Given the description of an element on the screen output the (x, y) to click on. 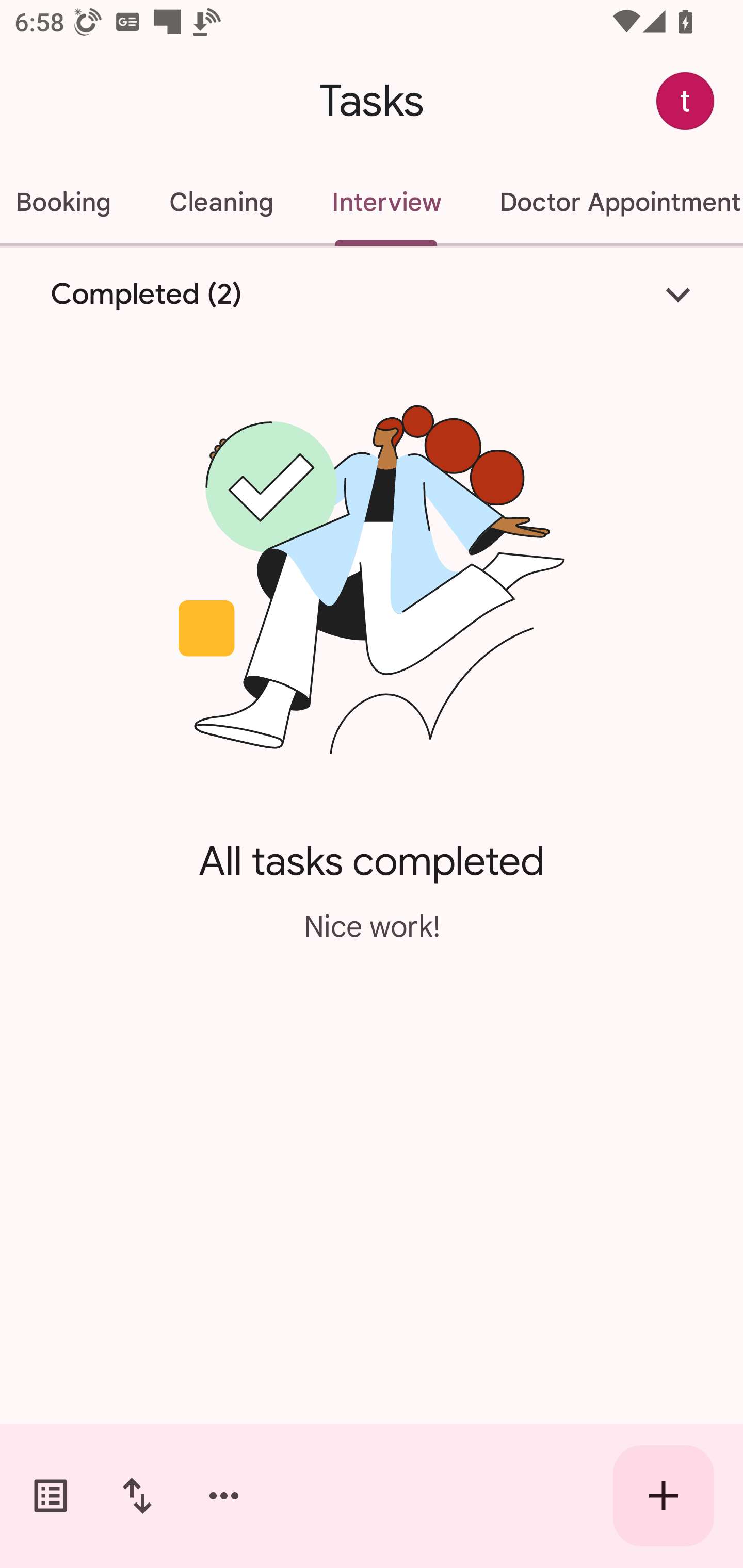
Hotel Booking (69, 202)
Cleaning (220, 202)
Doctor Appointment (606, 202)
Completed (2) (371, 294)
Switch task lists (50, 1495)
Create new task (663, 1495)
Change sort order (136, 1495)
More options (223, 1495)
